Given the description of an element on the screen output the (x, y) to click on. 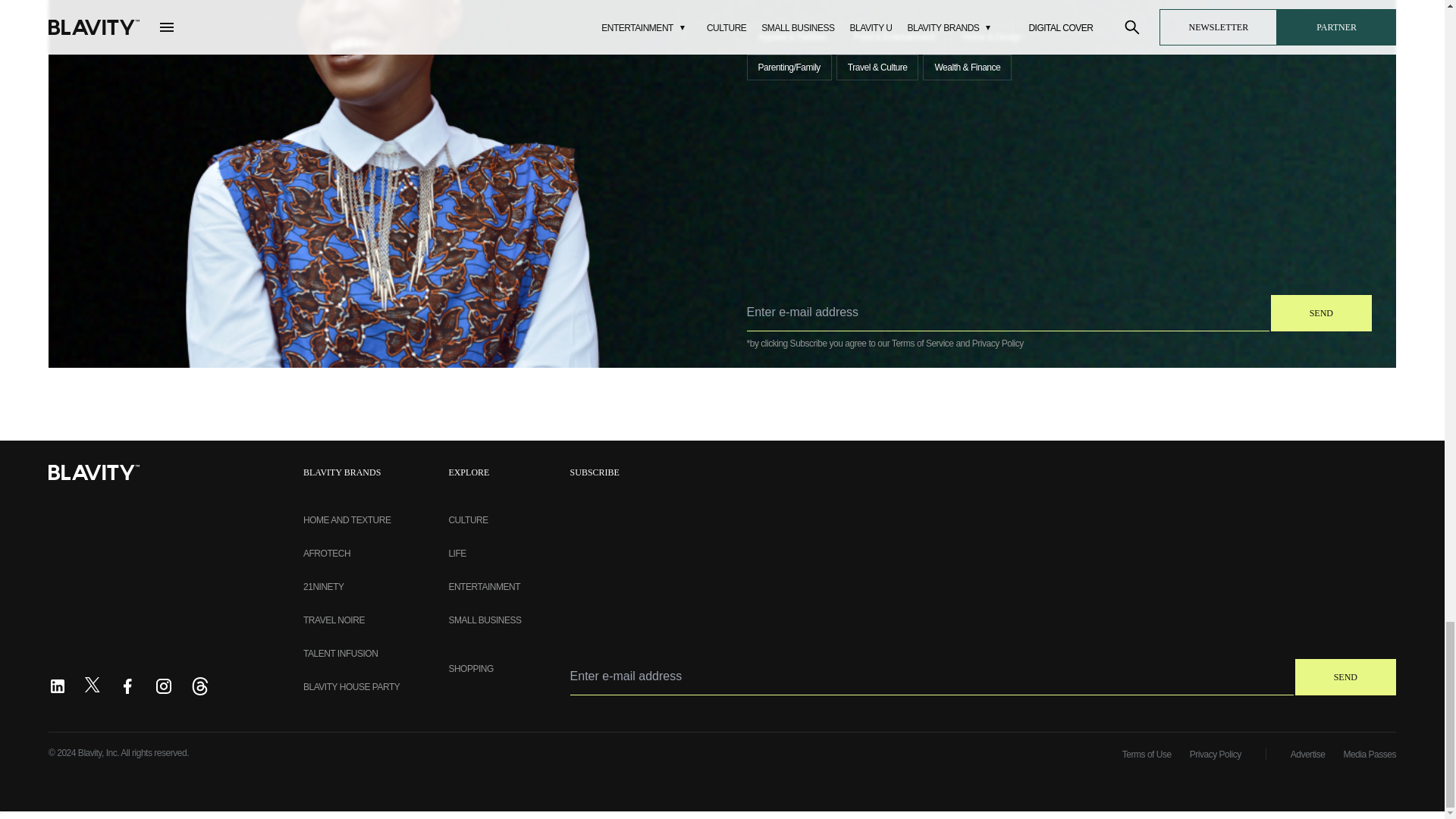
Blavity News logo (93, 472)
send (1321, 312)
send (1345, 677)
